Given the description of an element on the screen output the (x, y) to click on. 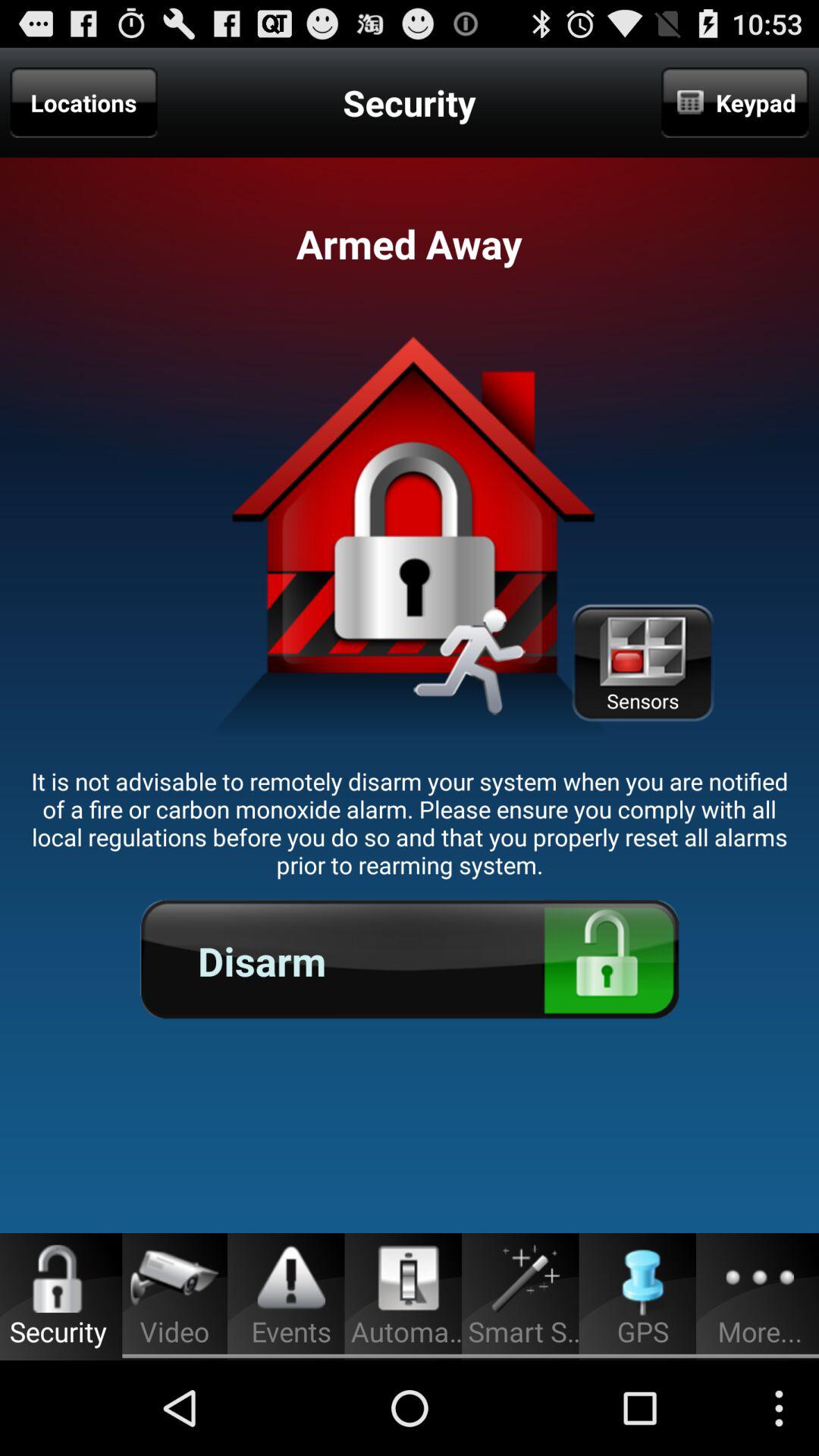
turn off button above the sensors button (734, 102)
